Given the description of an element on the screen output the (x, y) to click on. 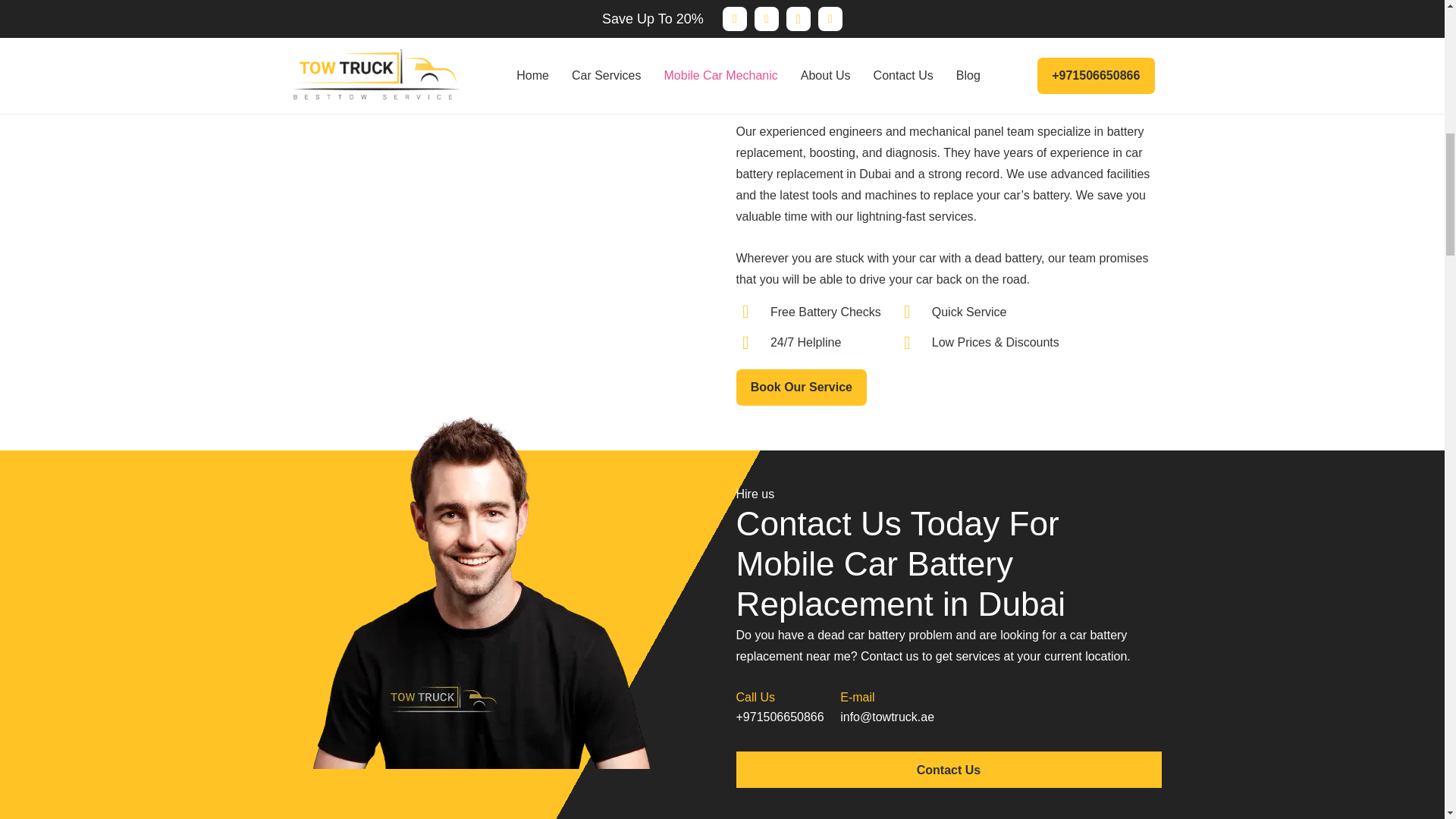
Contact Us (947, 769)
Back to top (1413, 37)
Contact Us (947, 769)
Book Our Service (800, 387)
